Given the description of an element on the screen output the (x, y) to click on. 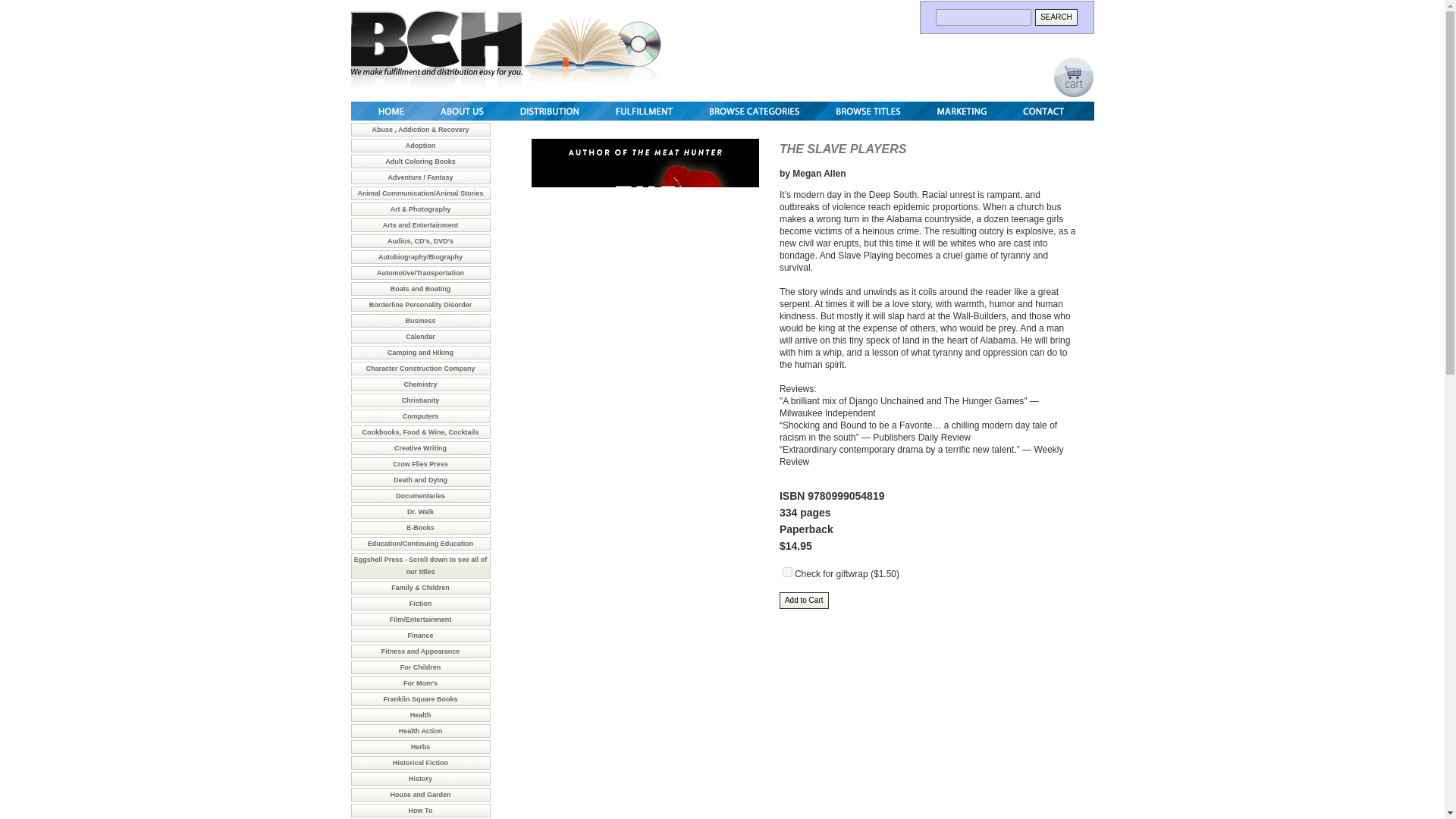
Arts and Entertainment (420, 225)
Crow Flies Press (420, 463)
For Children (420, 666)
Dr. Walk (420, 511)
Calendar (420, 336)
Health Action (420, 730)
Chemistry (419, 384)
Health (420, 715)
Borderline Personality Disorder (420, 304)
SEARCH (1056, 17)
